Given the description of an element on the screen output the (x, y) to click on. 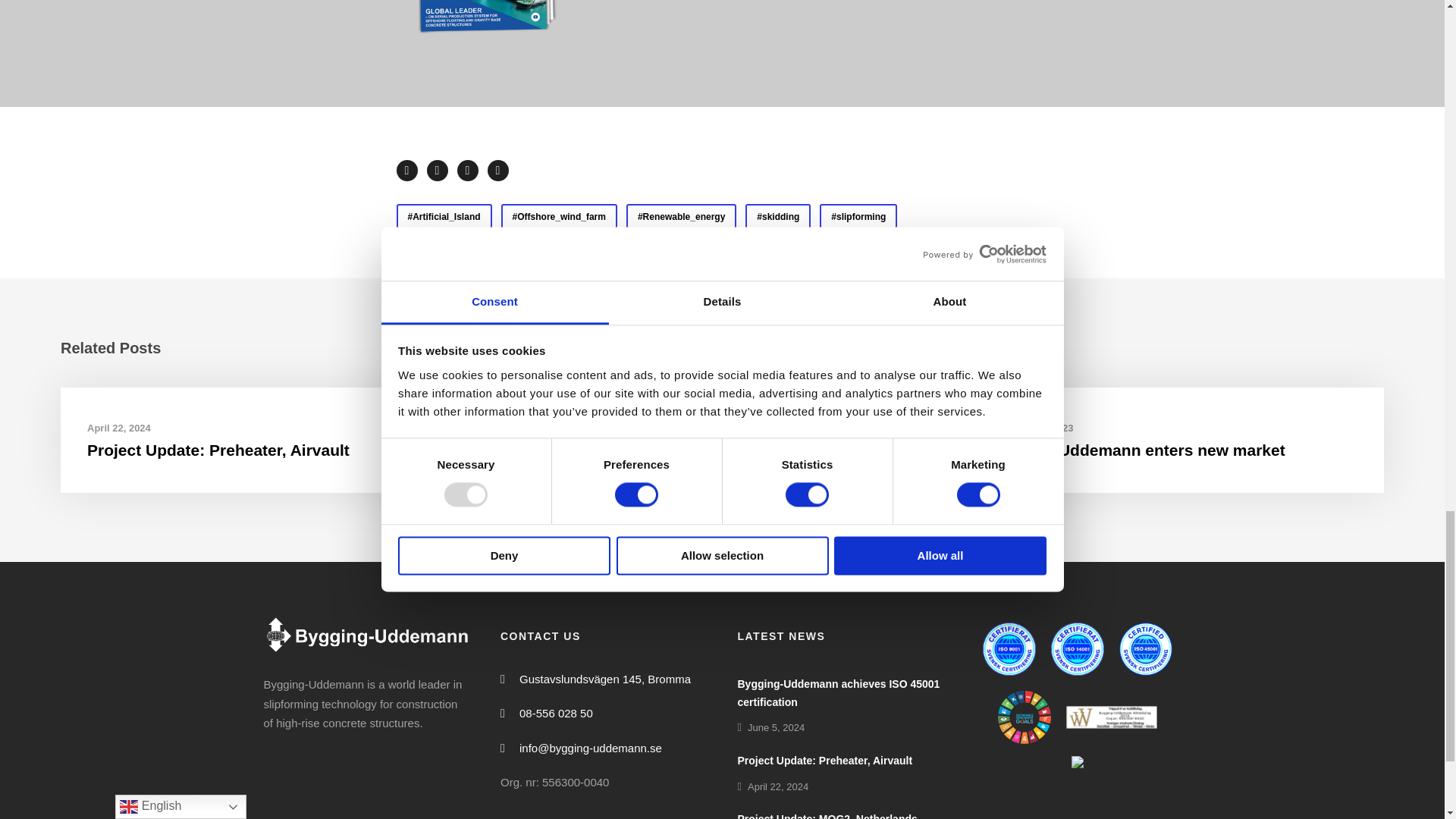
Global2 (484, 19)
